Given the description of an element on the screen output the (x, y) to click on. 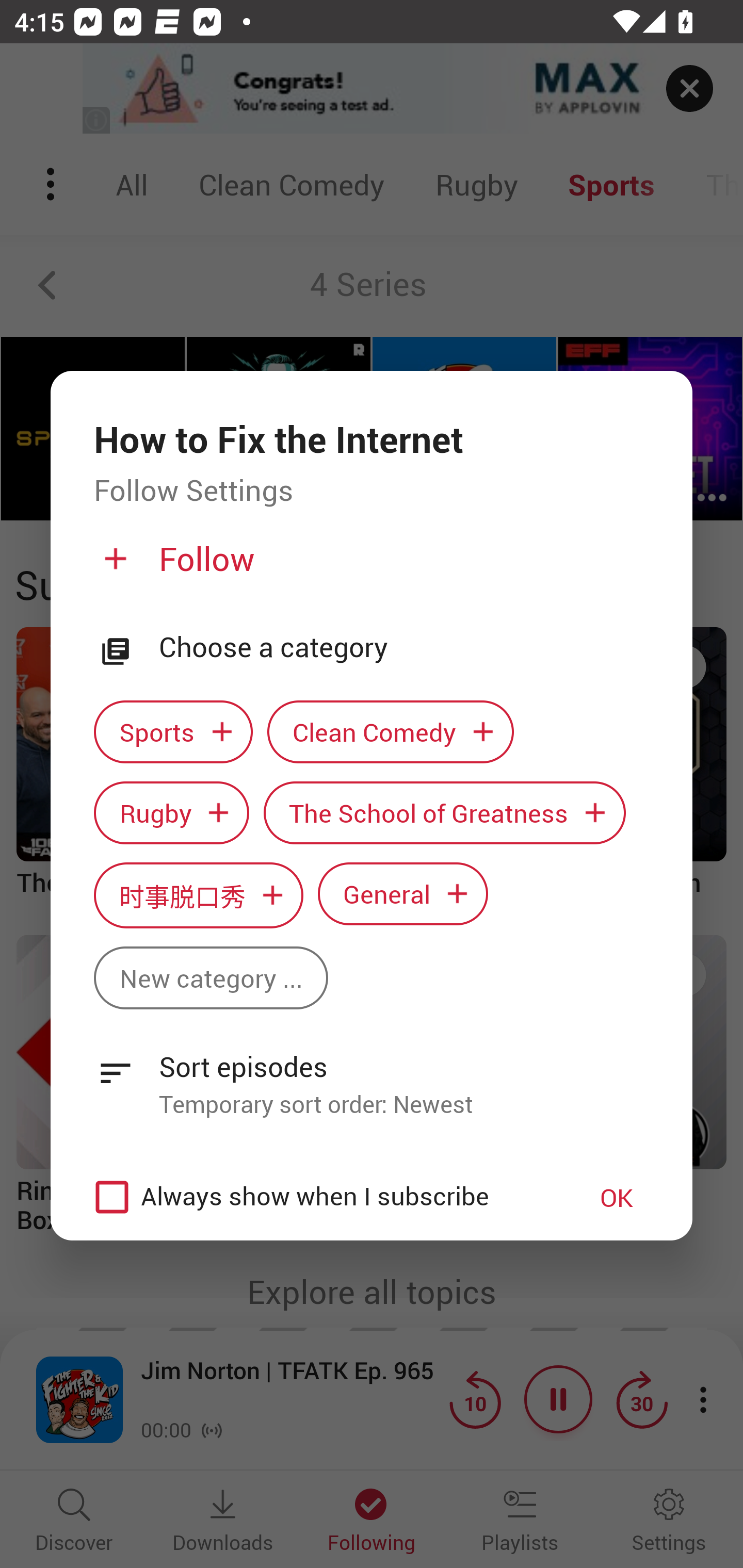
Follow (369, 566)
Choose a category (404, 647)
Sports (172, 731)
Clean Comedy (390, 731)
Rugby (170, 811)
The School of Greatness (444, 811)
时事脱口秀 (198, 895)
General (403, 893)
New category ... (210, 978)
Sort episodes Temporary sort order: Newest (371, 1073)
OK (616, 1197)
Always show when I subscribe (320, 1197)
